Given the description of an element on the screen output the (x, y) to click on. 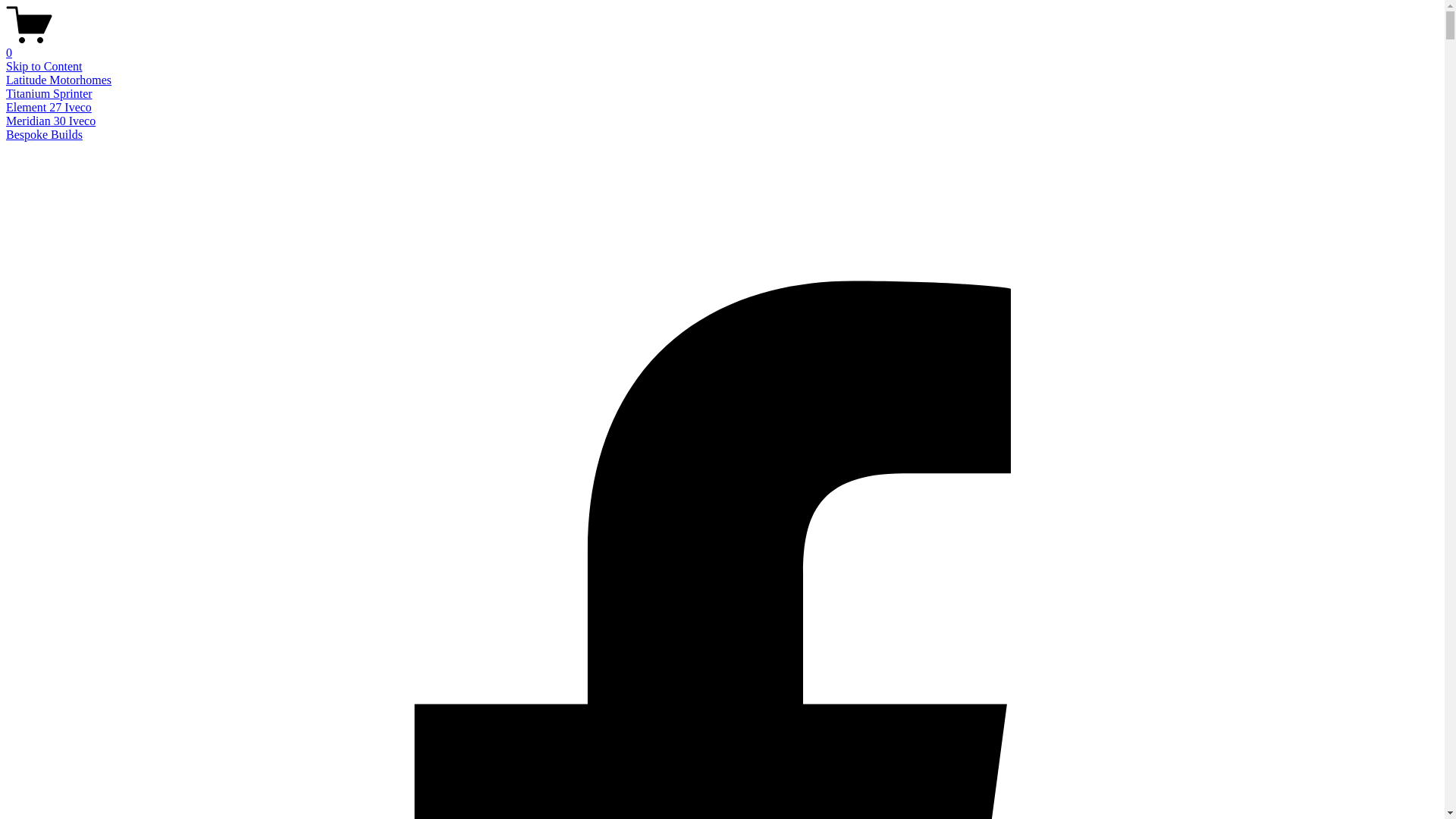
Latitude Motorhomes Element type: text (58, 79)
Bespoke Builds Element type: text (44, 134)
Titanium Sprinter Element type: text (49, 93)
Element 27 Iveco Element type: text (48, 106)
Skip to Content Element type: text (43, 65)
0 Element type: text (722, 45)
Meridian 30 Iveco Element type: text (50, 120)
